Given the description of an element on the screen output the (x, y) to click on. 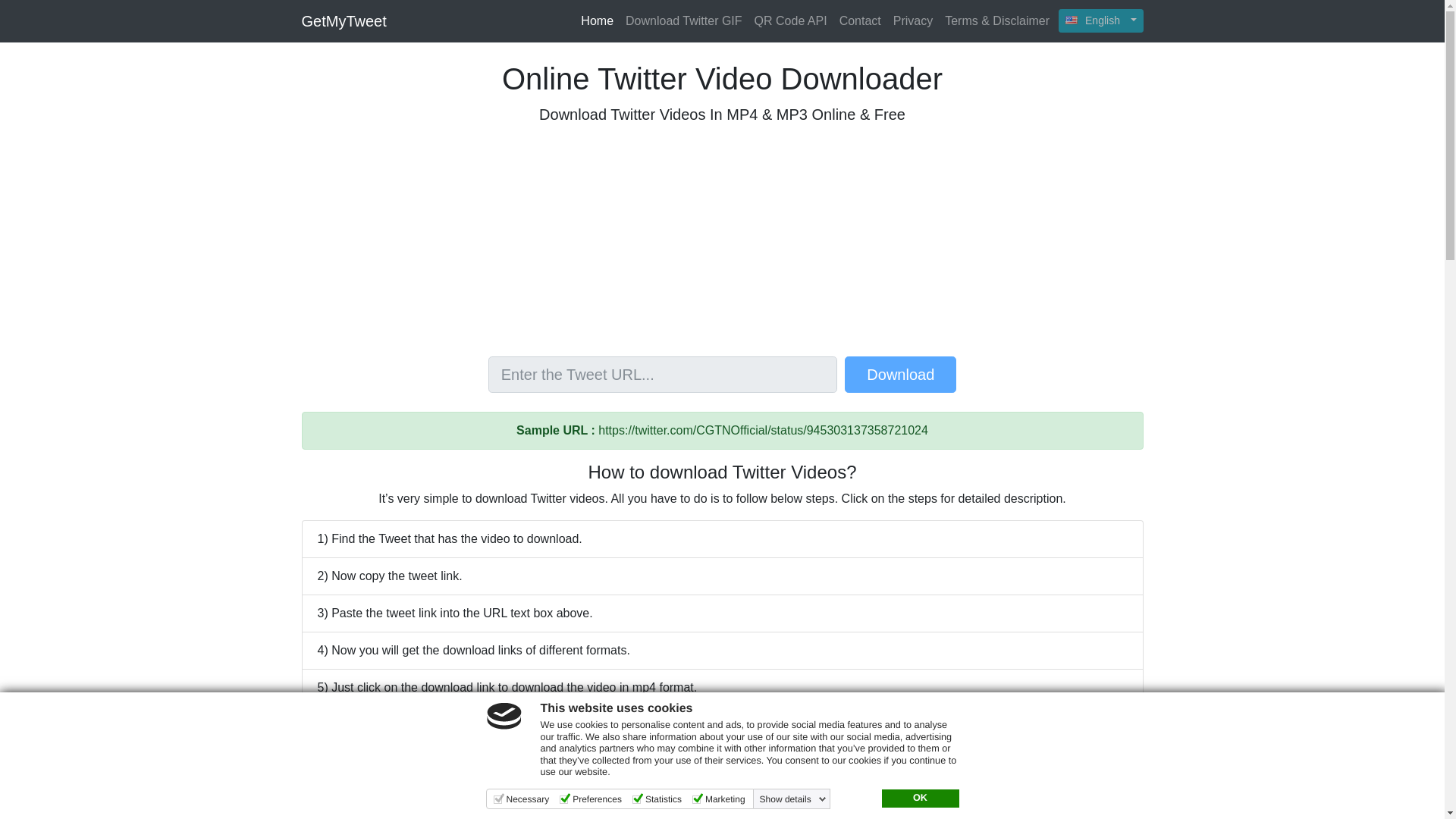
Show details (793, 799)
OK (919, 798)
